Given the description of an element on the screen output the (x, y) to click on. 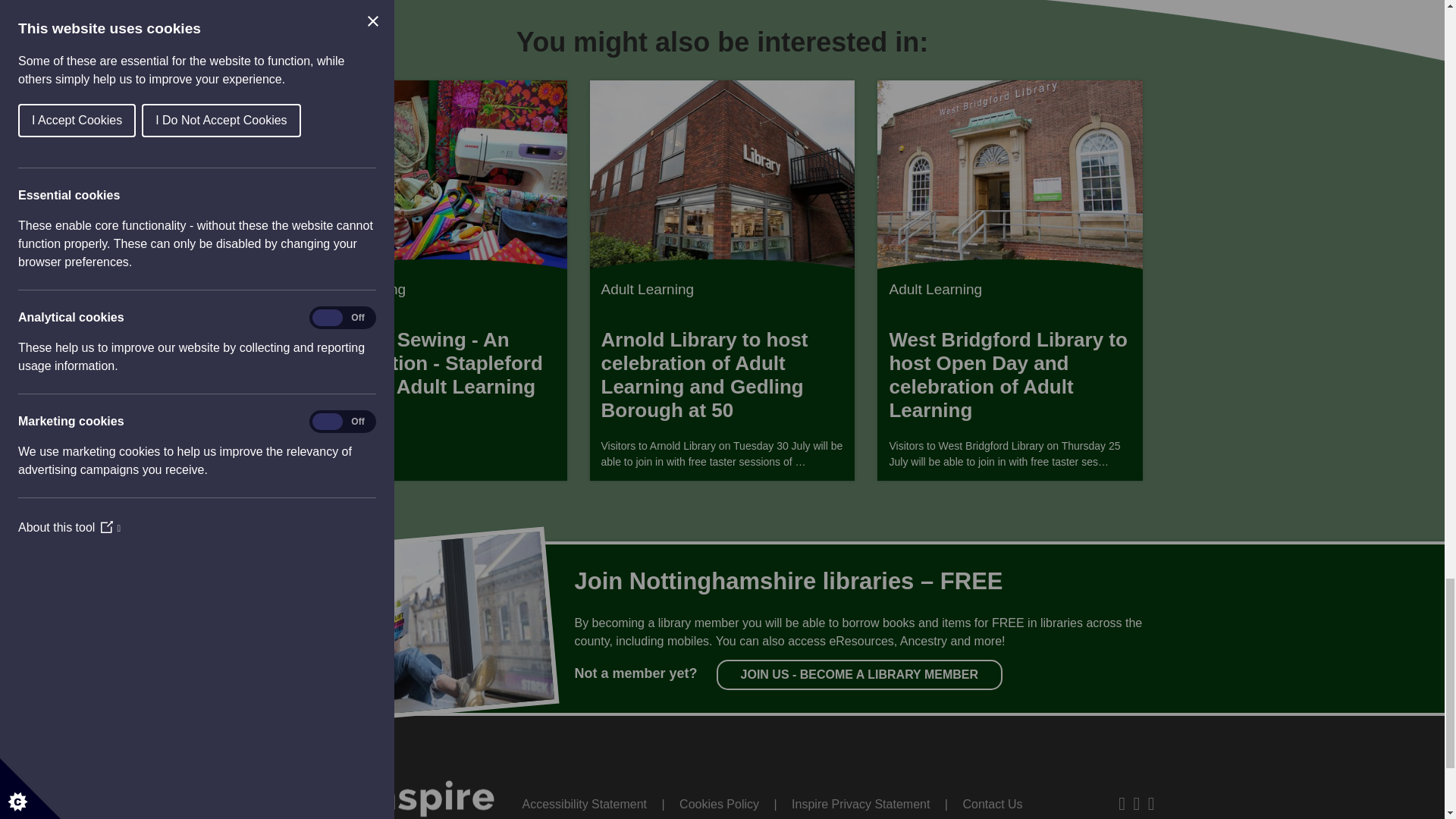
Go to home page (405, 786)
